Given the description of an element on the screen output the (x, y) to click on. 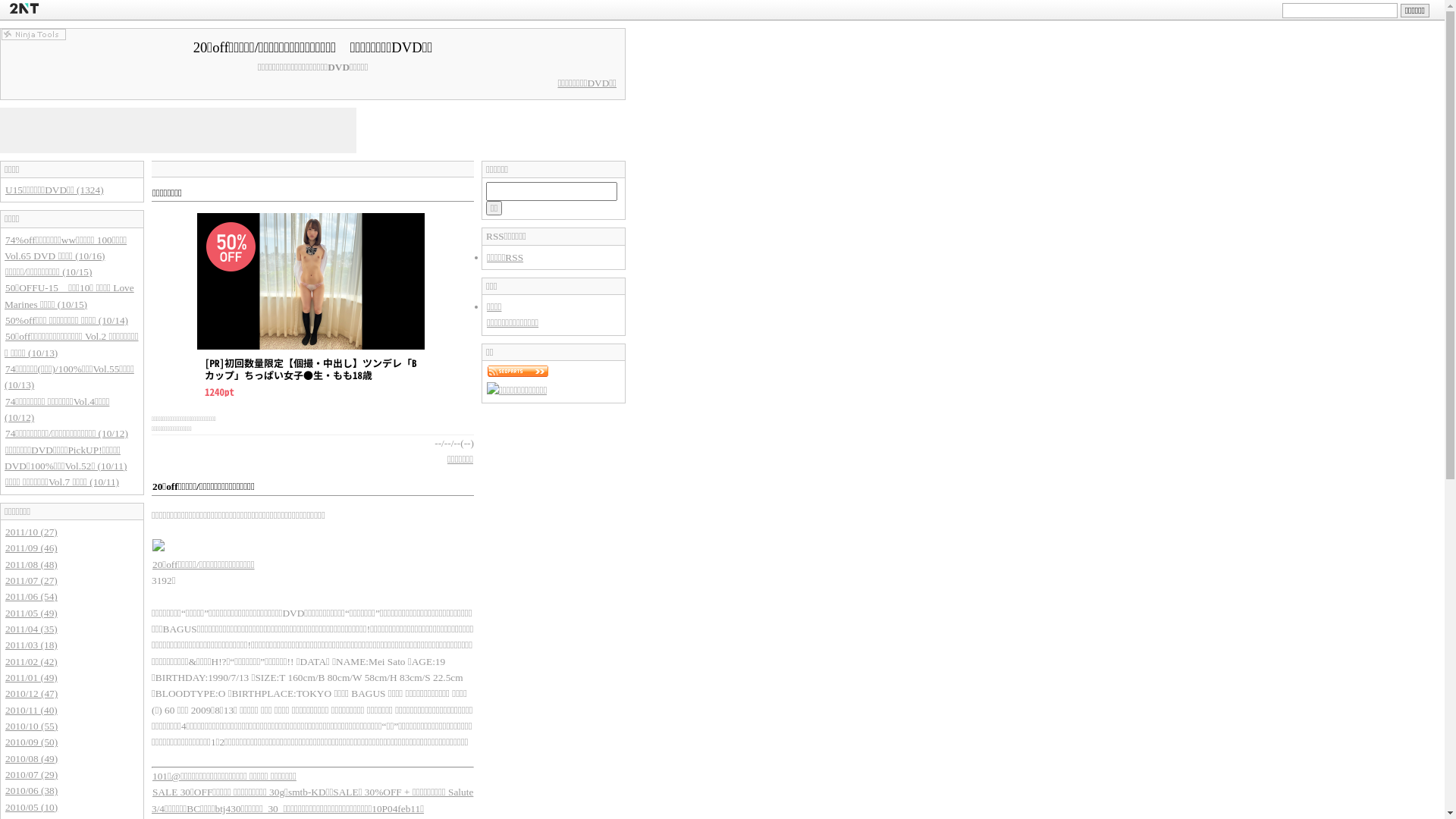
2010/05 (10) Element type: text (31, 806)
2011/08 (48) Element type: text (31, 564)
2010/10 (55) Element type: text (31, 725)
2010/09 (50) Element type: text (31, 741)
2011/07 (27) Element type: text (31, 580)
2010/08 (49) Element type: text (31, 758)
2010/12 (47) Element type: text (31, 693)
2011/05 (49) Element type: text (31, 612)
2011/10 (27) Element type: text (31, 531)
2011/06 (54) Element type: text (31, 595)
2010/06 (38) Element type: text (31, 790)
2010/07 (29) Element type: text (31, 774)
2011/09 (46) Element type: text (31, 547)
2011/04 (35) Element type: text (31, 628)
2011/03 (18) Element type: text (31, 644)
2010/11 (40) Element type: text (31, 709)
2011/01 (49) Element type: text (31, 677)
2011/02 (42) Element type: text (31, 661)
